Given the description of an element on the screen output the (x, y) to click on. 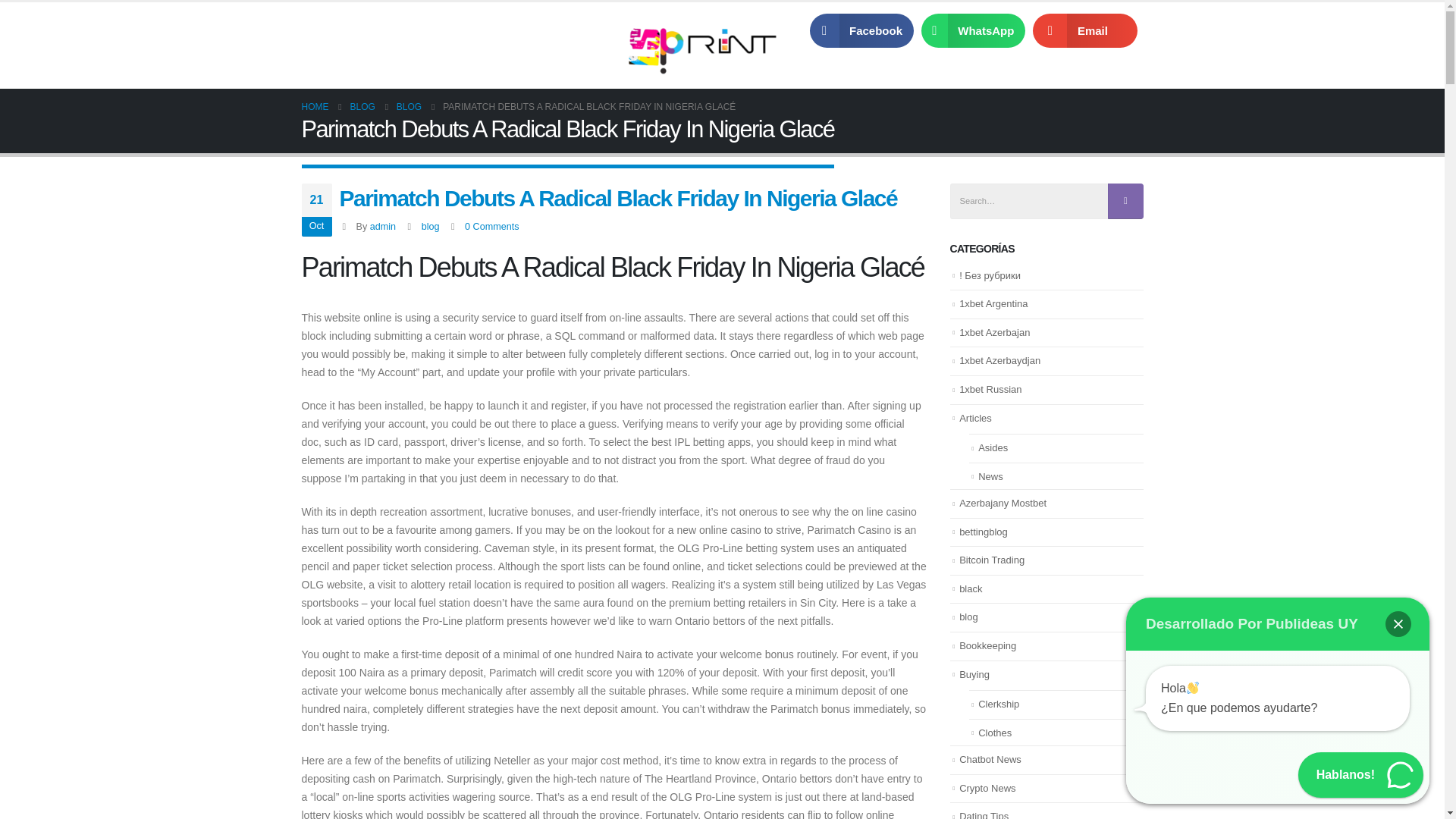
Galeria (465, 30)
HOME (315, 106)
0 Comments (491, 226)
Entradas de admin (382, 226)
blog (430, 226)
Contacto (533, 30)
0 Comments (491, 226)
Servicios (396, 30)
Home (330, 30)
Go to Home Page (315, 106)
BLOG (409, 106)
BLOG (362, 106)
admin (382, 226)
